Given the description of an element on the screen output the (x, y) to click on. 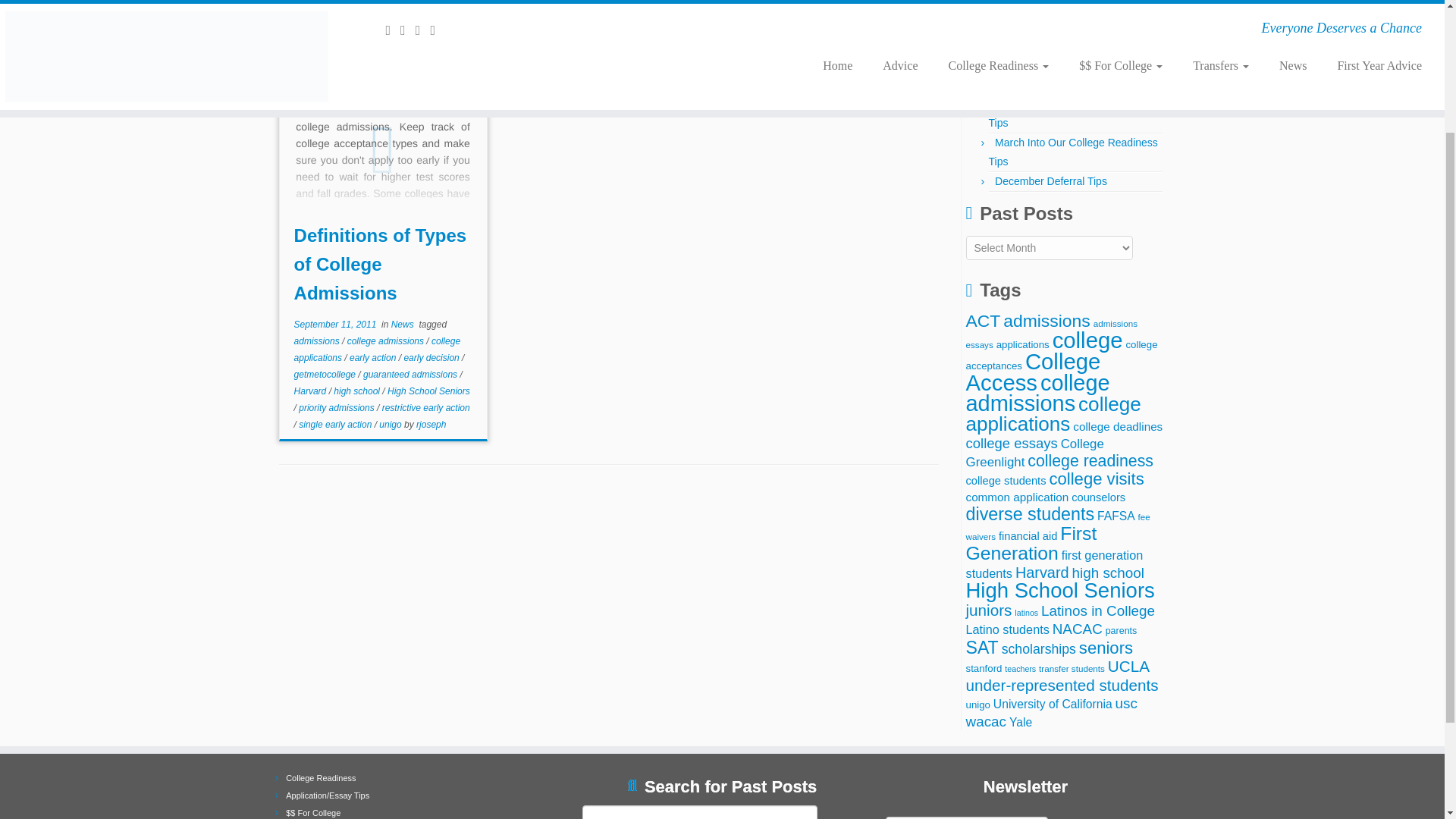
View all posts in Harvard (311, 390)
View all posts in getmetocollege (326, 374)
guaranteed admissions (411, 374)
September 11, 2011 (335, 324)
Definitions of Types of College Admissions (380, 264)
View all posts in college admissions (386, 340)
View all posts in guaranteed admissions (411, 374)
11:33 pm (335, 324)
View all posts in early action (373, 357)
college admissions (386, 340)
